Given the description of an element on the screen output the (x, y) to click on. 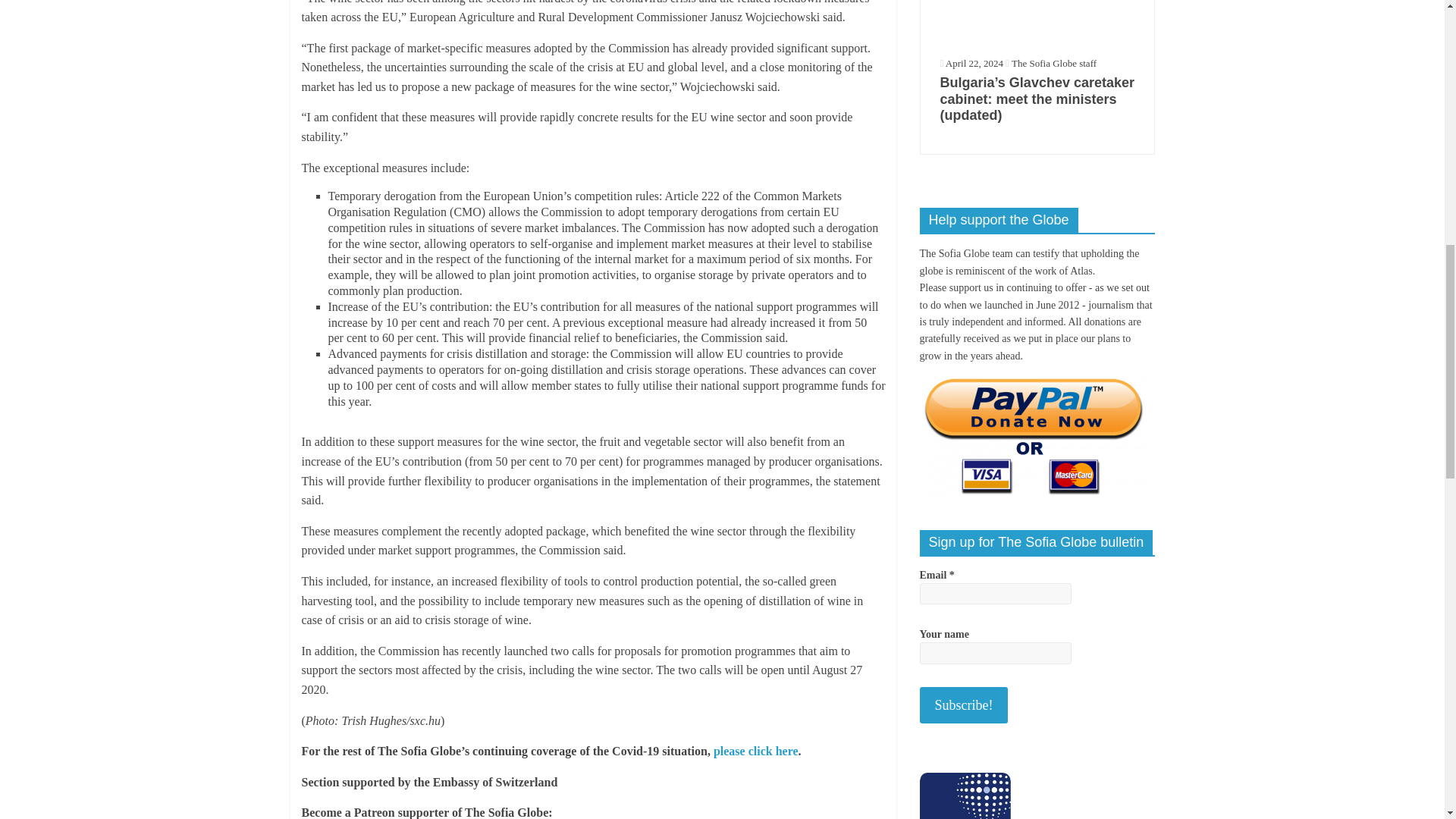
Subscribe! (962, 705)
please click here (755, 750)
